Given the description of an element on the screen output the (x, y) to click on. 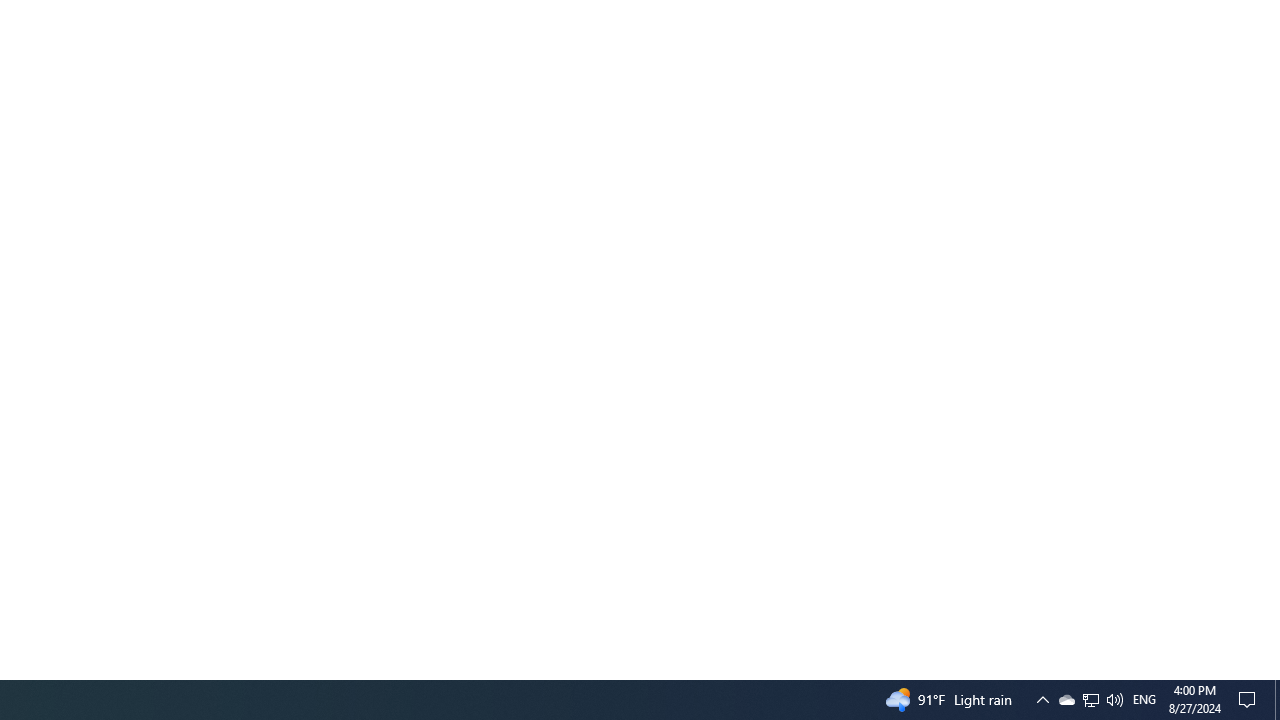
Tray Input Indicator - English (United States) (1144, 699)
